Given the description of an element on the screen output the (x, y) to click on. 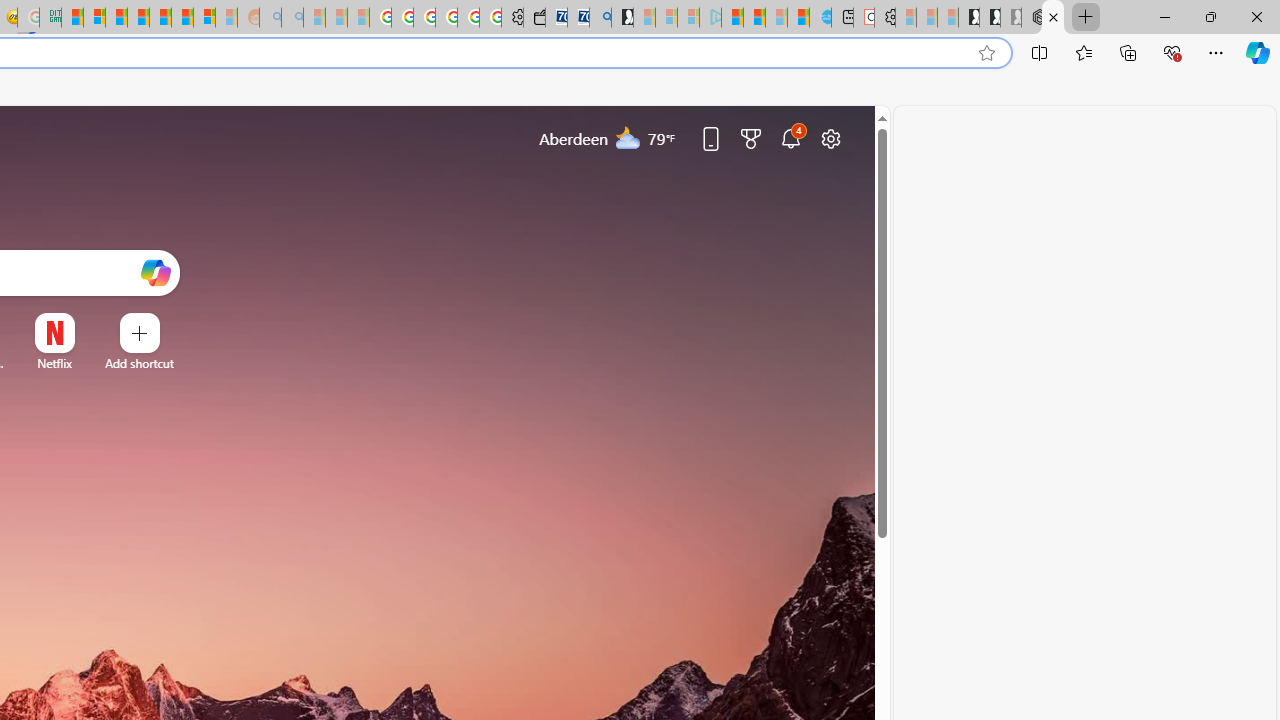
Page settings (831, 138)
Mostly cloudy (628, 137)
Open Copilot (155, 272)
Nordace - Nordace Siena Is Not An Ordinary Backpack (1031, 17)
